Given the description of an element on the screen output the (x, y) to click on. 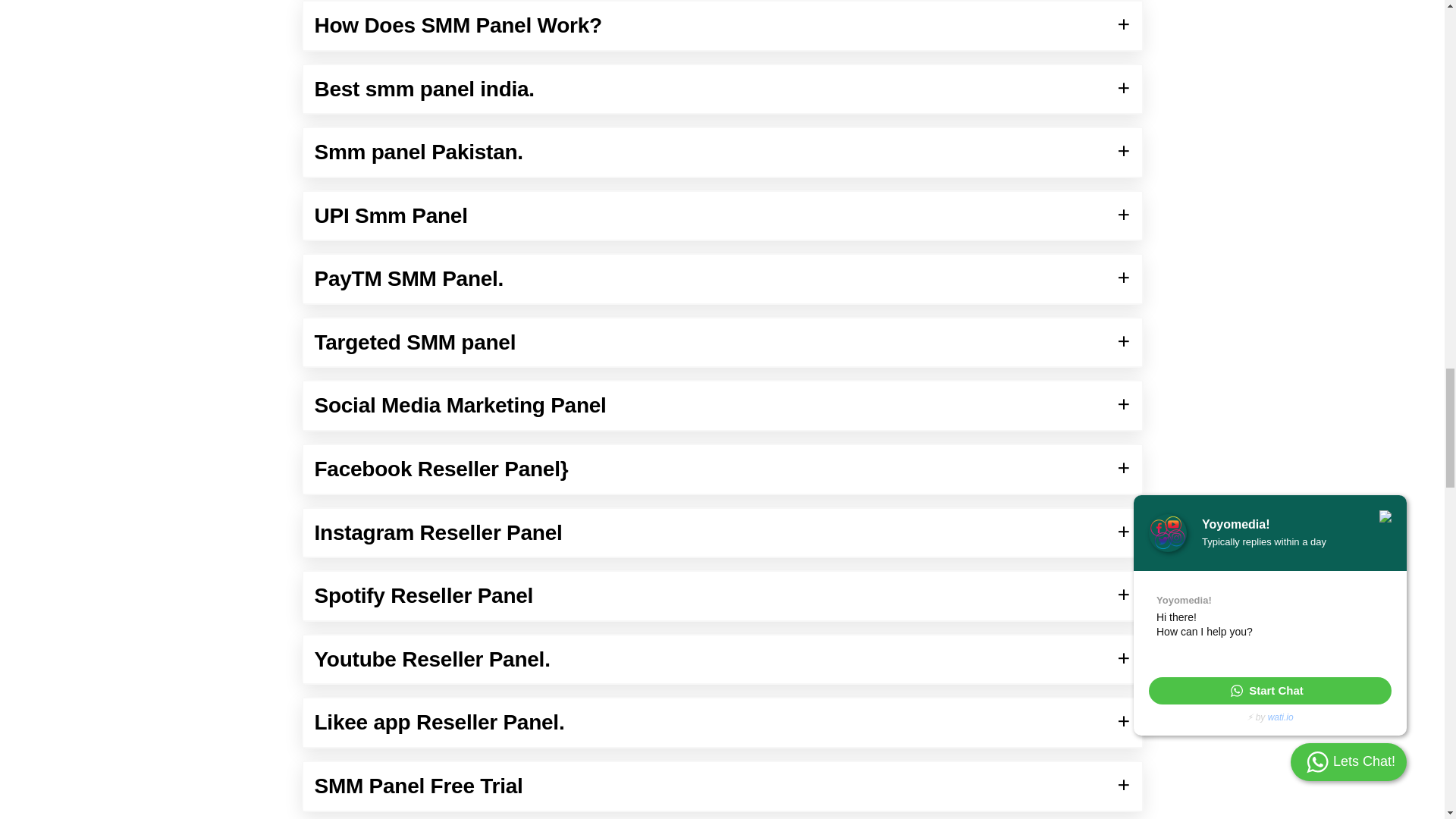
Spotify Reseller Panel (721, 595)
Best smm panel india. (721, 89)
Likee app Reseller Panel. (721, 722)
Targeted SMM panel (721, 342)
Smm panel Pakistan. (721, 151)
Instagram Reseller Panel (721, 532)
UPI Smm Panel (721, 215)
PayTM SMM Panel. (721, 278)
How Does SMM Panel Work? (721, 25)
Social Media Marketing Panel (721, 405)
